Given the description of an element on the screen output the (x, y) to click on. 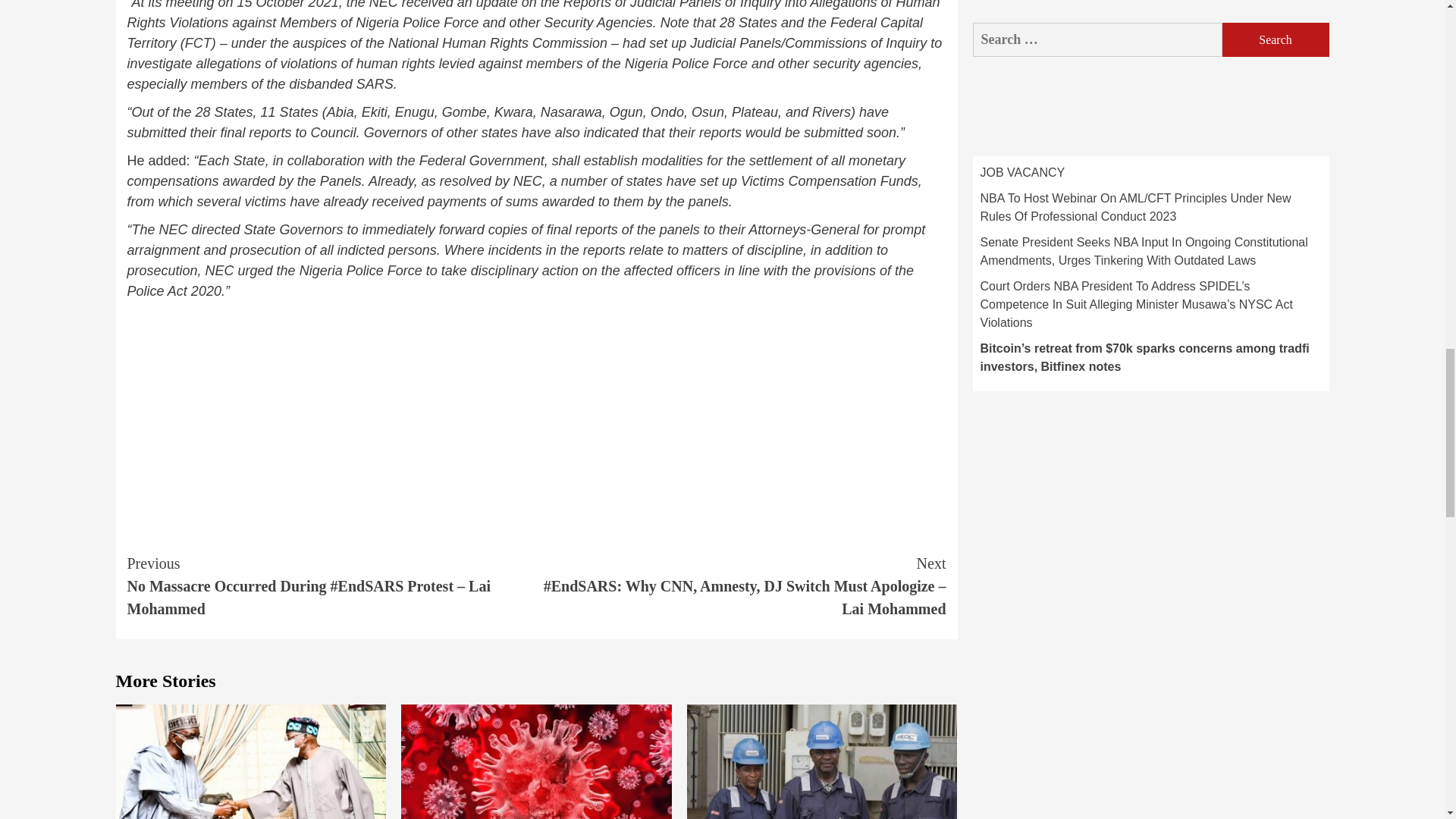
FCT (197, 43)
Posts tagged with FCT (197, 43)
